Given the description of an element on the screen output the (x, y) to click on. 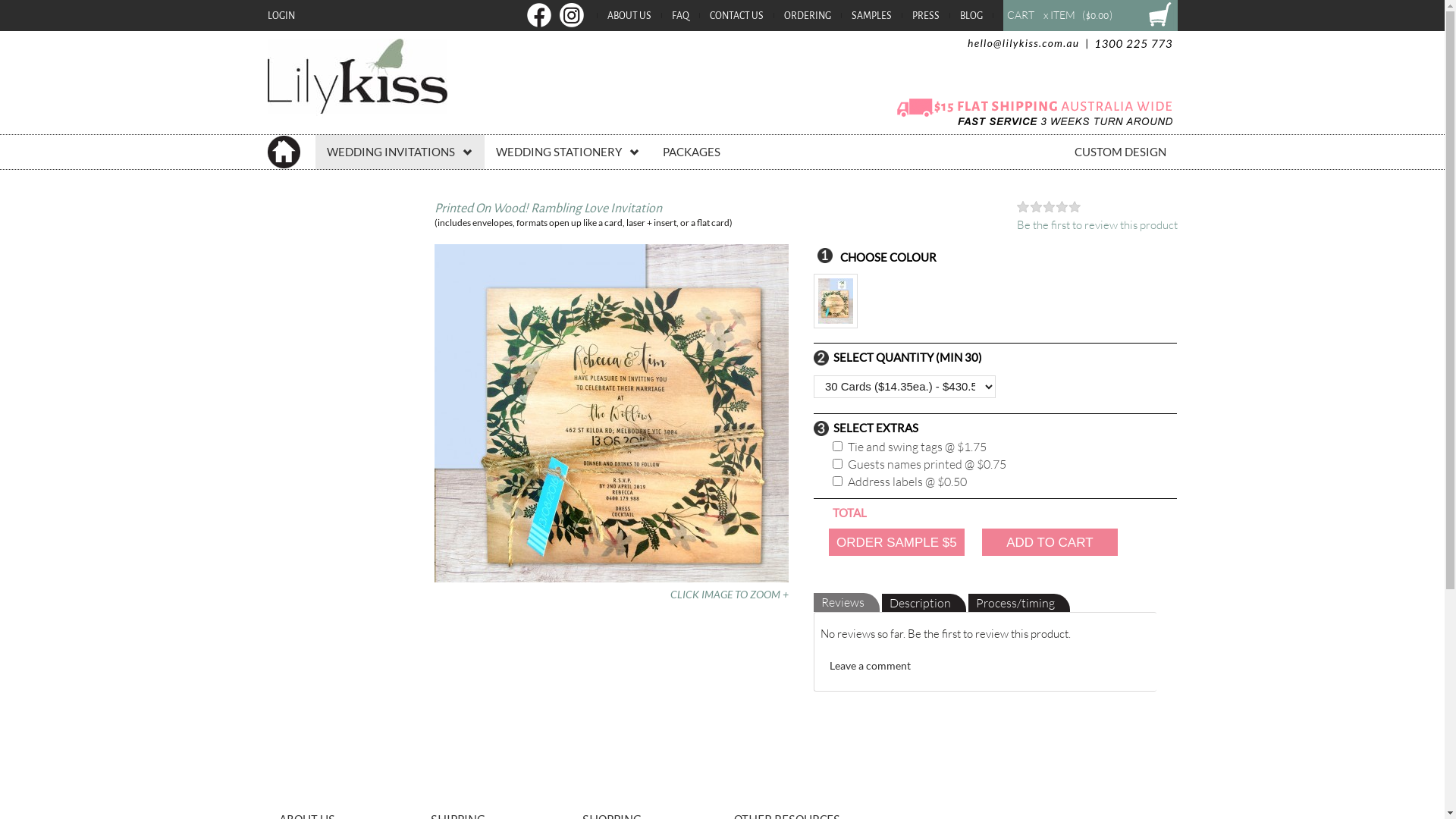
Description Element type: text (923, 602)
Process/timing Element type: text (1019, 602)
blue-cherry-wood Element type: hover (837, 304)
Reviews Element type: text (846, 602)
FAQ Element type: text (680, 15)
instgram Element type: hover (569, 15)
ADD TO CART Element type: text (1049, 541)
102 Element type: text (837, 446)
103 Element type: text (837, 481)
PRESS Element type: text (924, 15)
CLICK IMAGE TO ZOOM + Element type: text (729, 593)
LOGIN Element type: text (280, 15)
BLOG Element type: text (971, 15)
SAMPLES Element type: text (870, 15)
fb Element type: hover (538, 15)
Be the first to review this product Element type: text (1096, 224)
CUSTOM DESIGN Element type: text (1120, 151)
Leave a comment Element type: text (869, 665)
101 Element type: text (837, 463)
WEDDING INVITATIONS Element type: text (399, 151)
PACKAGES Element type: text (690, 151)
ORDER SAMPLE $5 Element type: text (896, 541)
Printed on wood! Rambling love invitation Element type: hover (610, 413)
Lily Kiss Element type: hover (356, 81)
WEDDING STATIONERY Element type: text (566, 151)
CONTACT US Element type: text (736, 15)
ORDERING Element type: text (807, 15)
ABOUT US Element type: text (628, 15)
